Given the description of an element on the screen output the (x, y) to click on. 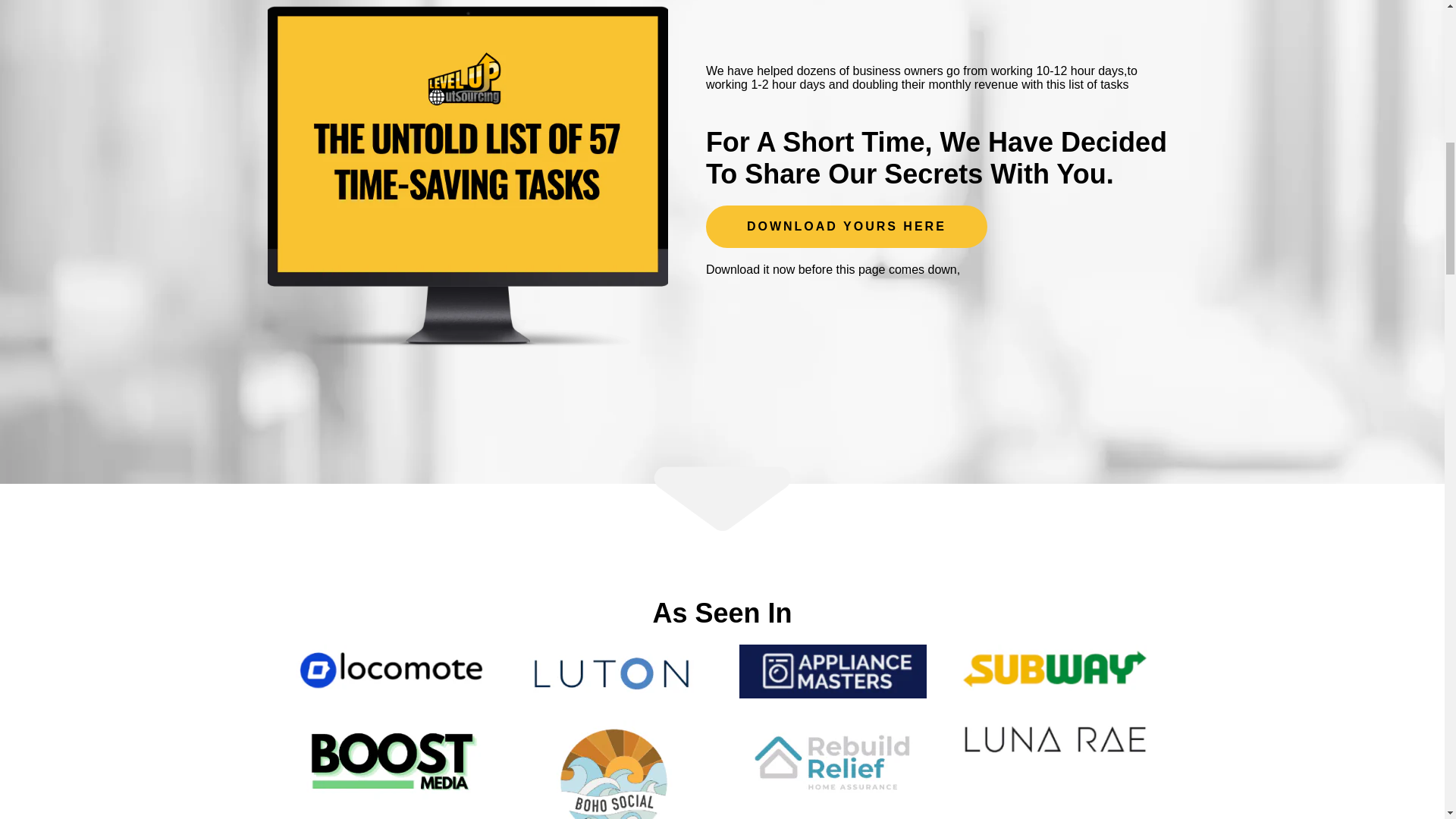
LUNA RAE LOGO (1053, 740)
SUBWAY LOGO (1053, 670)
LOCOMOTE LOGO (390, 668)
BOOST MEDIA LOGO (390, 760)
BOHO SOCIAL LOGO (612, 769)
REBUILD RELIEF HOME ASSURANCE (832, 759)
DOWNLOAD YOURS HERE (846, 226)
APPLIANCES MASTERS LOGO (832, 671)
LUTON LOGO (612, 672)
